Given the description of an element on the screen output the (x, y) to click on. 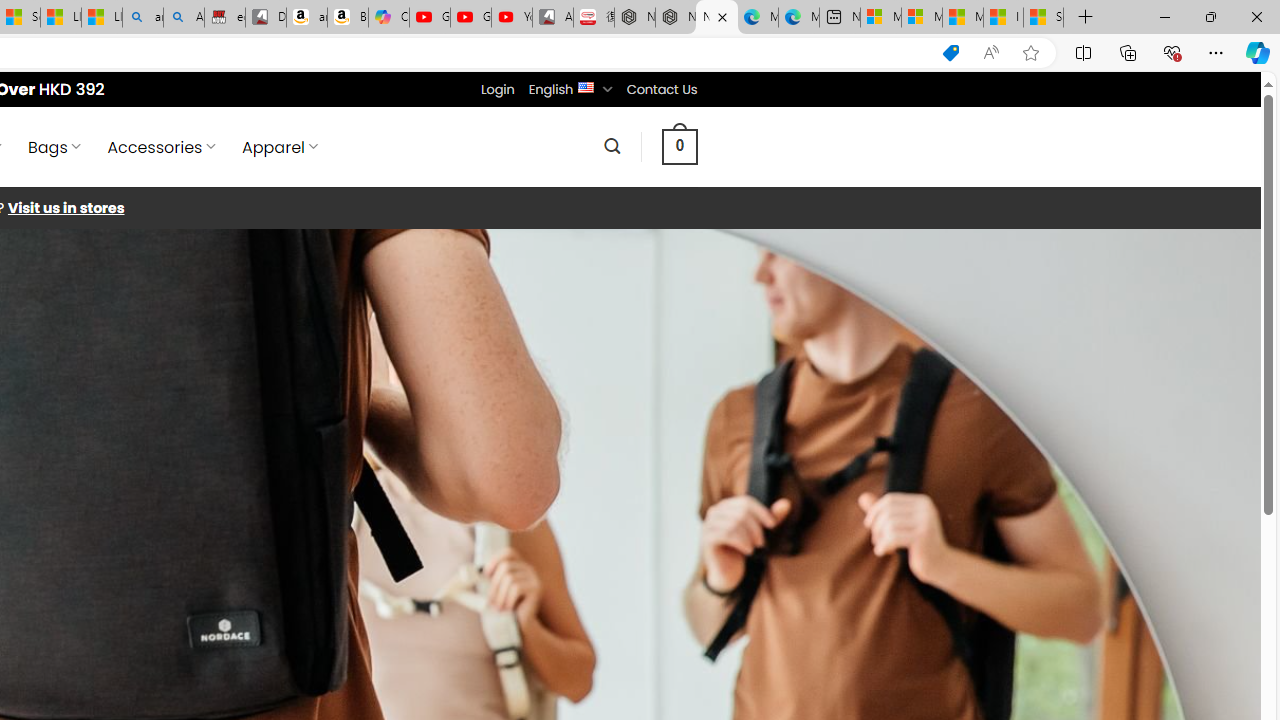
Contact Us (661, 89)
English (586, 86)
